Given the description of an element on the screen output the (x, y) to click on. 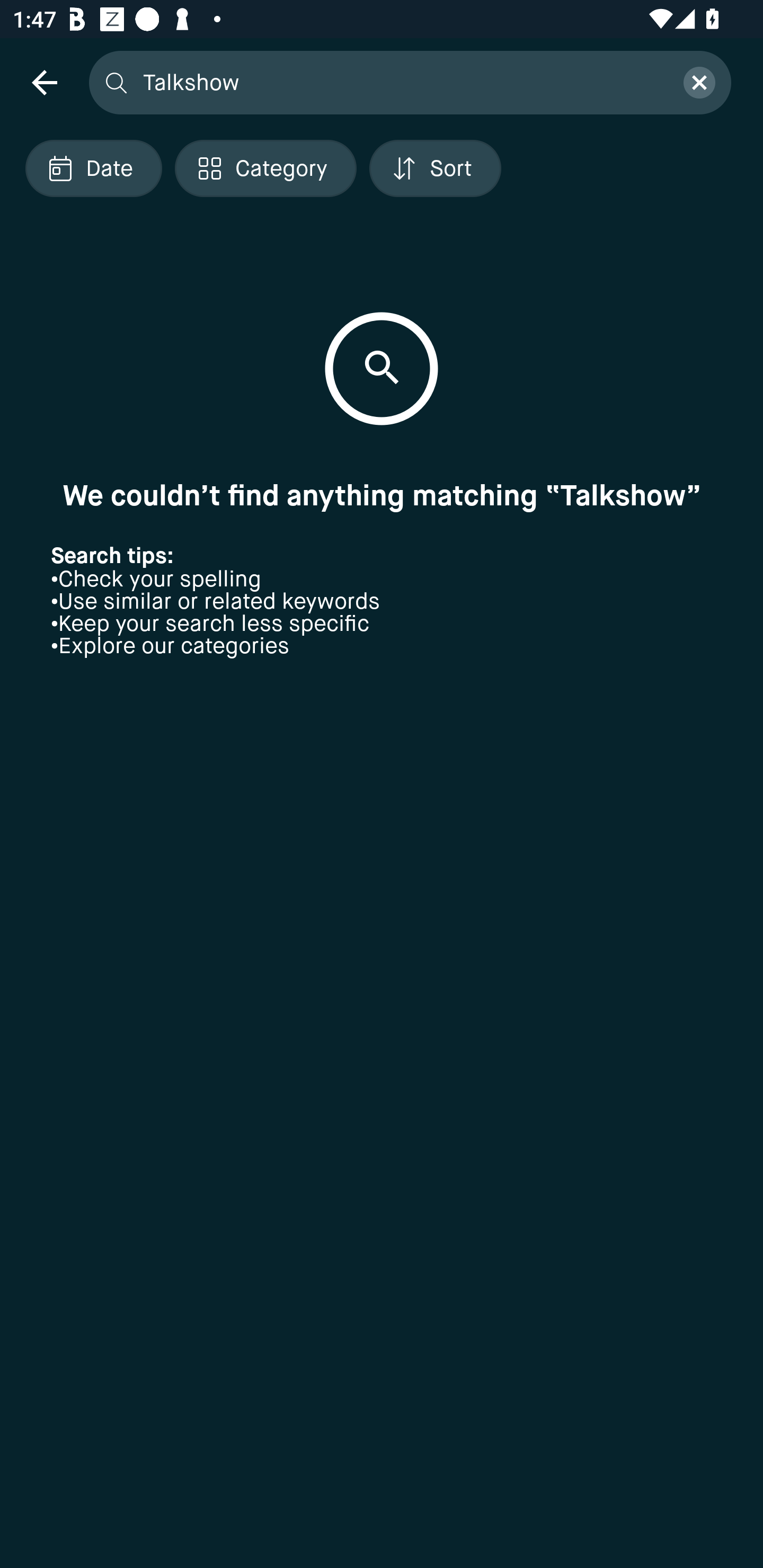
navigation icon (44, 81)
Talkshow (402, 81)
Localized description Date (93, 168)
Localized description Category (265, 168)
Localized description Sort (435, 168)
We couldn’t find anything matching “Talkshow” (381, 495)
